Given the description of an element on the screen output the (x, y) to click on. 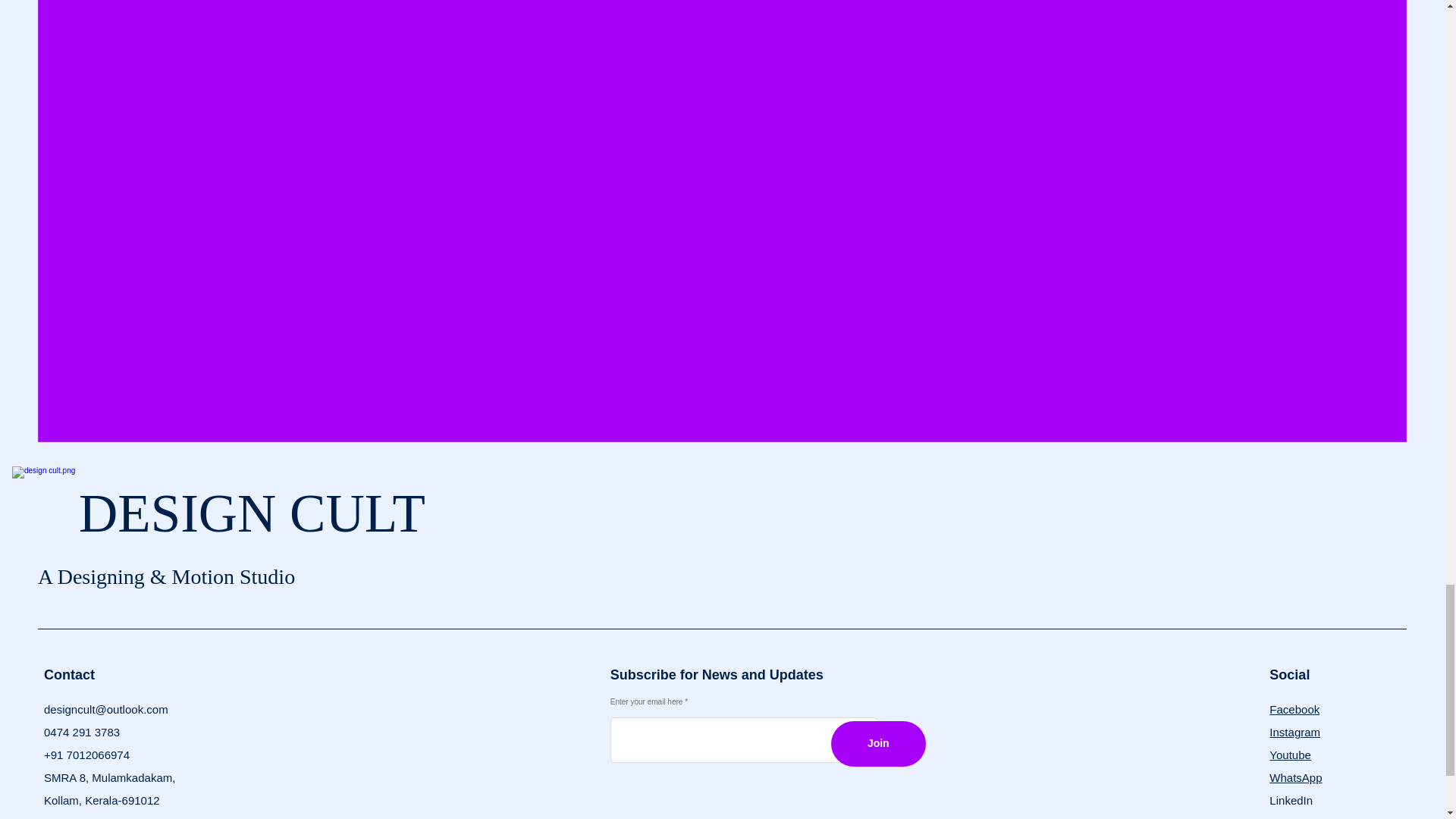
Facebook (1294, 708)
WhatsApp (1295, 777)
DESIGN CULT (251, 513)
Youtube (1290, 754)
Join (878, 743)
Instagram (1294, 731)
